Given the description of an element on the screen output the (x, y) to click on. 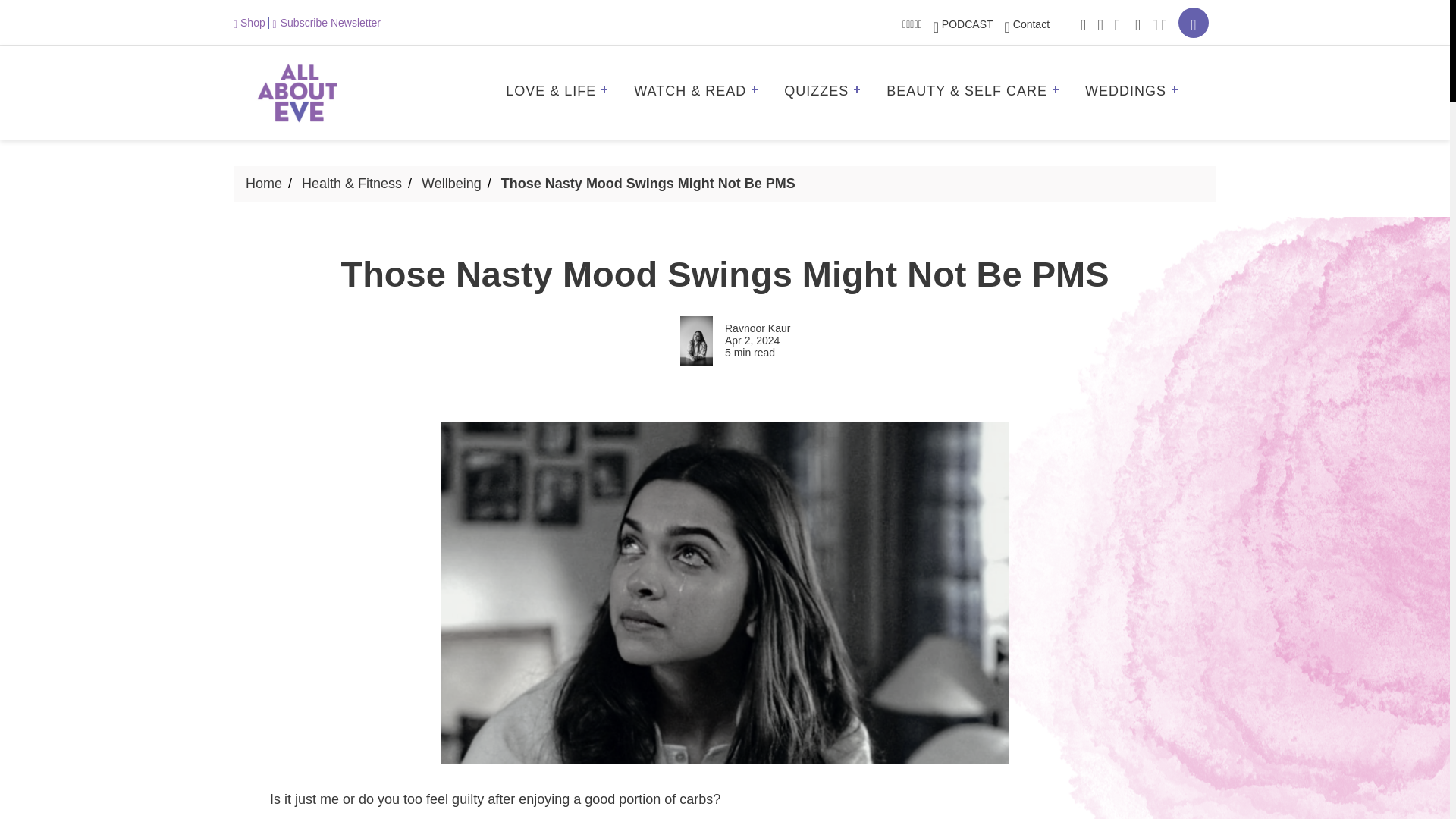
Subscribe Newsletter (326, 22)
Contact (1026, 24)
Shop (250, 22)
PODCAST (962, 24)
Home (264, 183)
Those Nasty Mood Swings Might Not Be PMS (647, 183)
QUIZZES (827, 92)
